Given the description of an element on the screen output the (x, y) to click on. 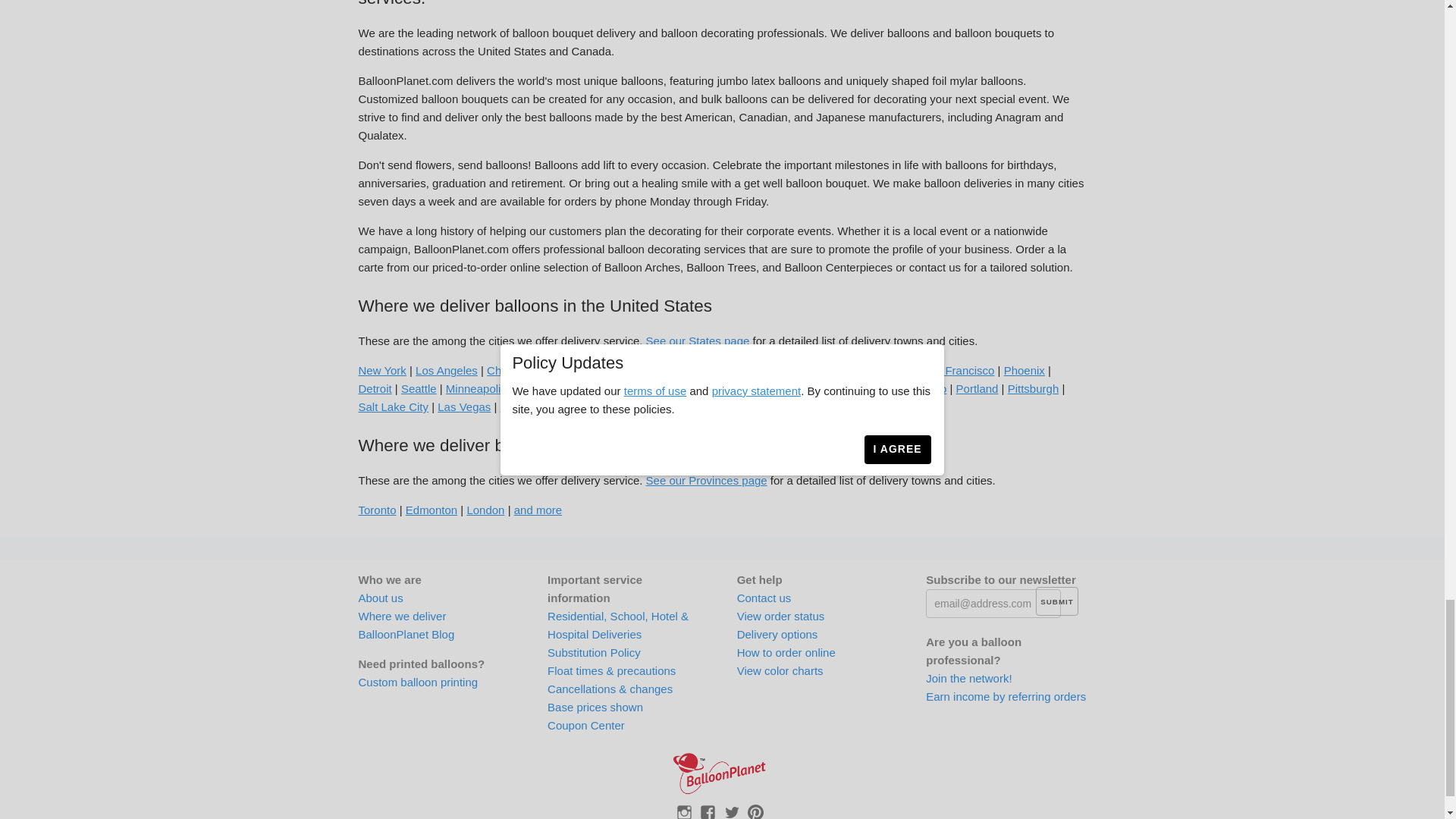
Submit (1056, 601)
